Given the description of an element on the screen output the (x, y) to click on. 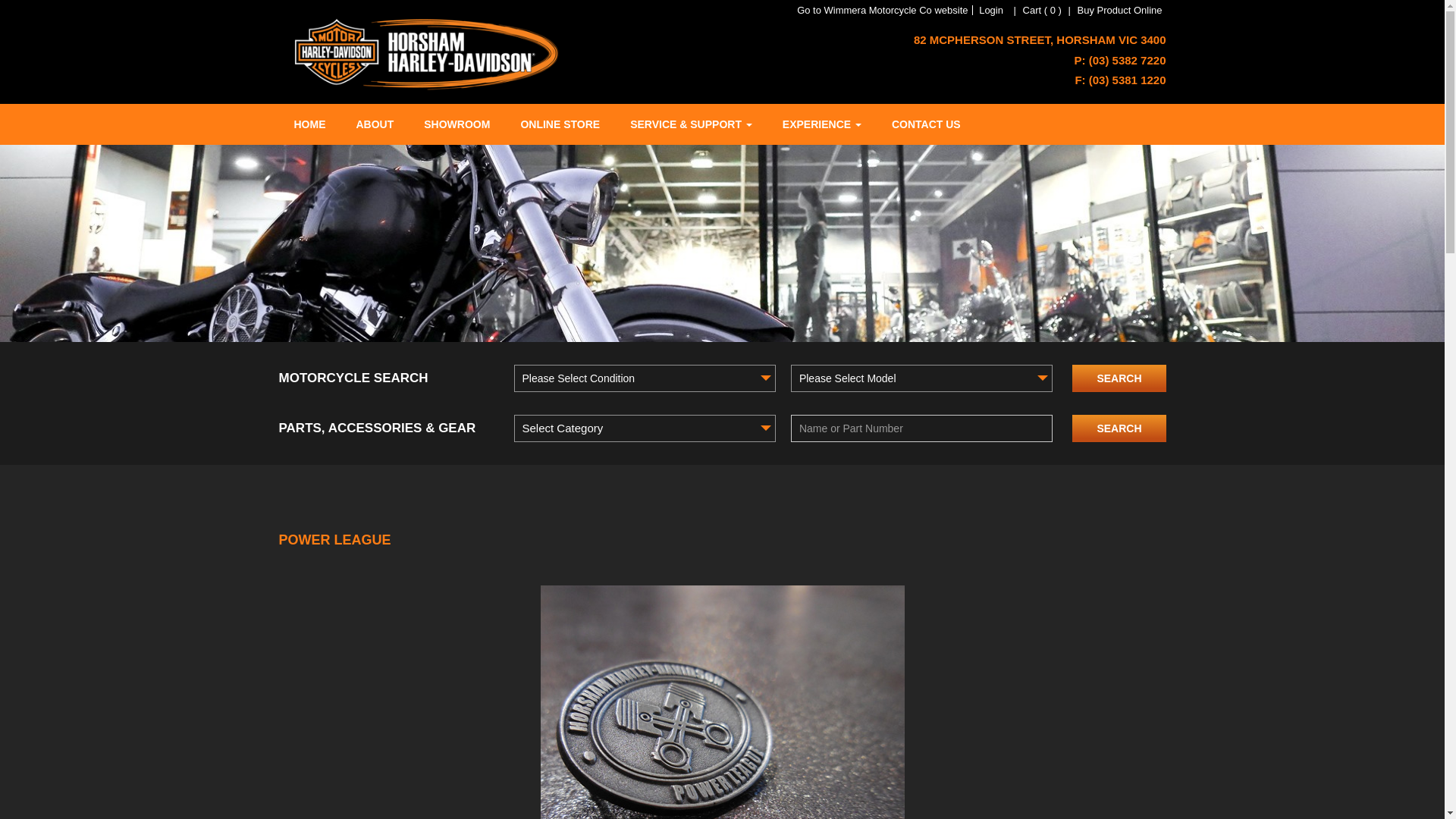
CONTACT US Element type: text (925, 123)
Search Element type: text (1118, 427)
Buy Product Online Element type: text (1118, 9)
Go to Wimmera Motorcycle Co website Element type: text (882, 10)
ABOUT Element type: text (375, 123)
SHOWROOM Element type: text (456, 123)
ONLINE STORE Element type: text (560, 123)
SERVICE & SUPPORT Element type: text (691, 123)
Login Element type: text (991, 9)
EXPERIENCE Element type: text (821, 123)
Search Element type: text (1118, 377)
Cart ( 0 ) Element type: text (1041, 9)
HOME Element type: text (310, 123)
